Given the description of an element on the screen output the (x, y) to click on. 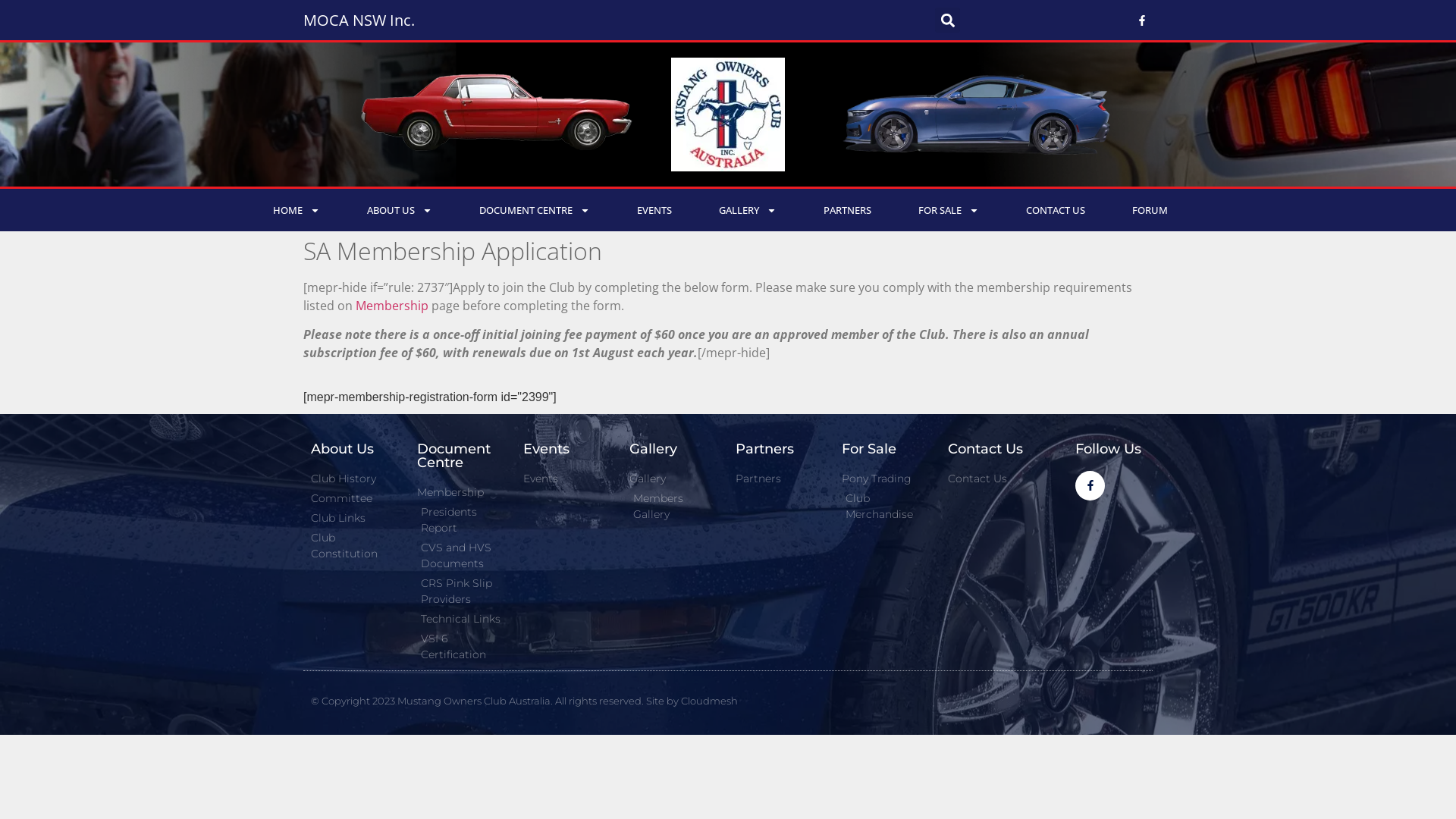
Cloudmesh Element type: text (708, 700)
1965 Element type: hover (496, 114)
Club History Element type: text (355, 478)
Events Element type: text (568, 478)
HOME Element type: text (296, 209)
PARTNERS Element type: text (847, 209)
Membership Element type: text (462, 492)
Gallery Element type: text (674, 478)
EVENTS Element type: text (654, 209)
Pony Trading Element type: text (886, 478)
Membership Element type: text (393, 305)
Presidents Report Element type: text (462, 520)
Club Merchandise Element type: text (886, 506)
DOCUMENT CENTRE Element type: text (534, 209)
ABOUT US Element type: text (399, 209)
FOR SALE Element type: text (948, 209)
Technical Links Element type: text (462, 619)
CRS Pink Slip Providers Element type: text (462, 591)
Members Gallery Element type: text (674, 506)
Partners Element type: text (780, 478)
Club Constitution Element type: text (355, 545)
CVS and HVS Documents Element type: text (462, 555)
GALLERY Element type: text (747, 209)
FORUM Element type: text (1149, 209)
Committee Element type: text (355, 498)
Club Links Element type: text (355, 518)
VSI 6 Certification Element type: text (462, 646)
CONTACT US Element type: text (1055, 209)
Contact Us Element type: text (992, 478)
